Given the description of an element on the screen output the (x, y) to click on. 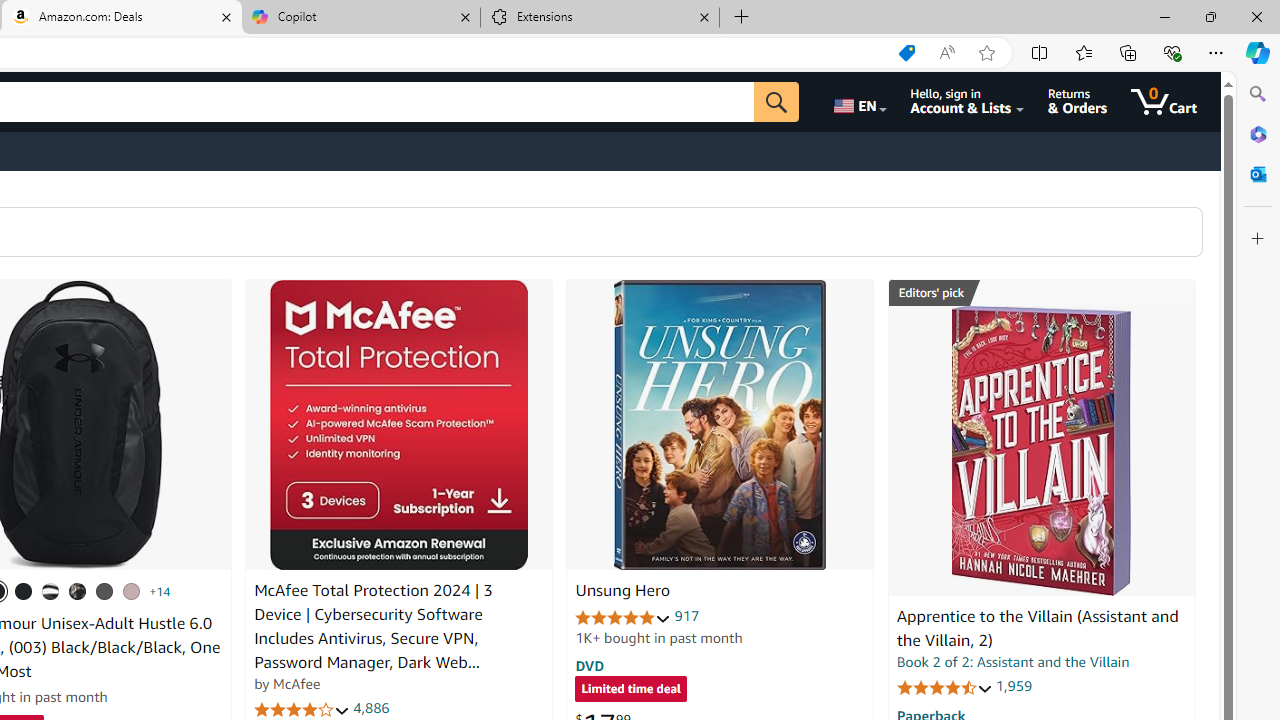
Apprentice to the Villain (Assistant and the Villain, 2) (1041, 451)
Editors' pick Best Science Fiction & Fantasy (1041, 293)
Apprentice to the Villain (Assistant and the Villain, 2) (1037, 628)
